Given the description of an element on the screen output the (x, y) to click on. 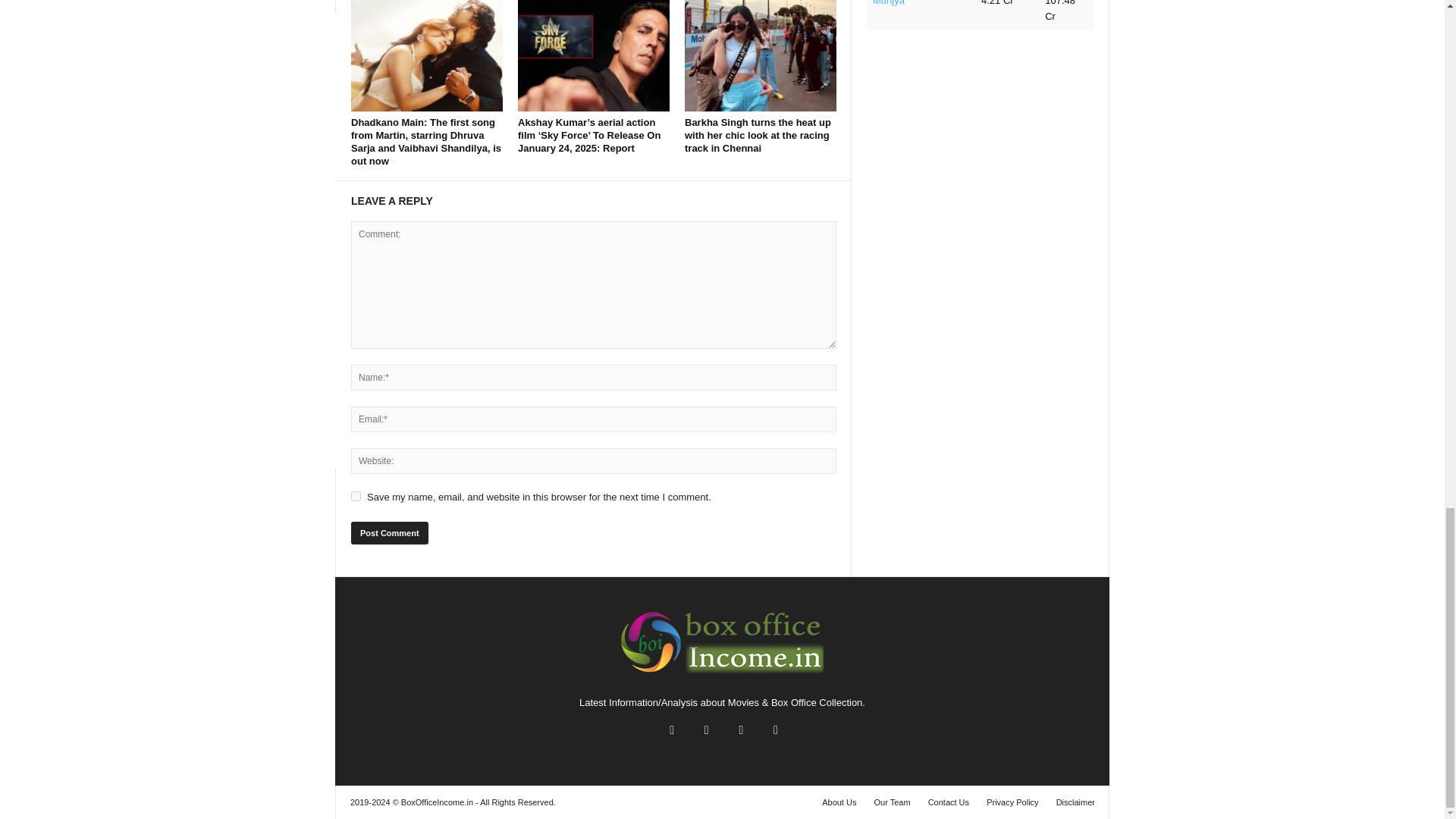
Post Comment (389, 532)
yes (355, 496)
